Given the description of an element on the screen output the (x, y) to click on. 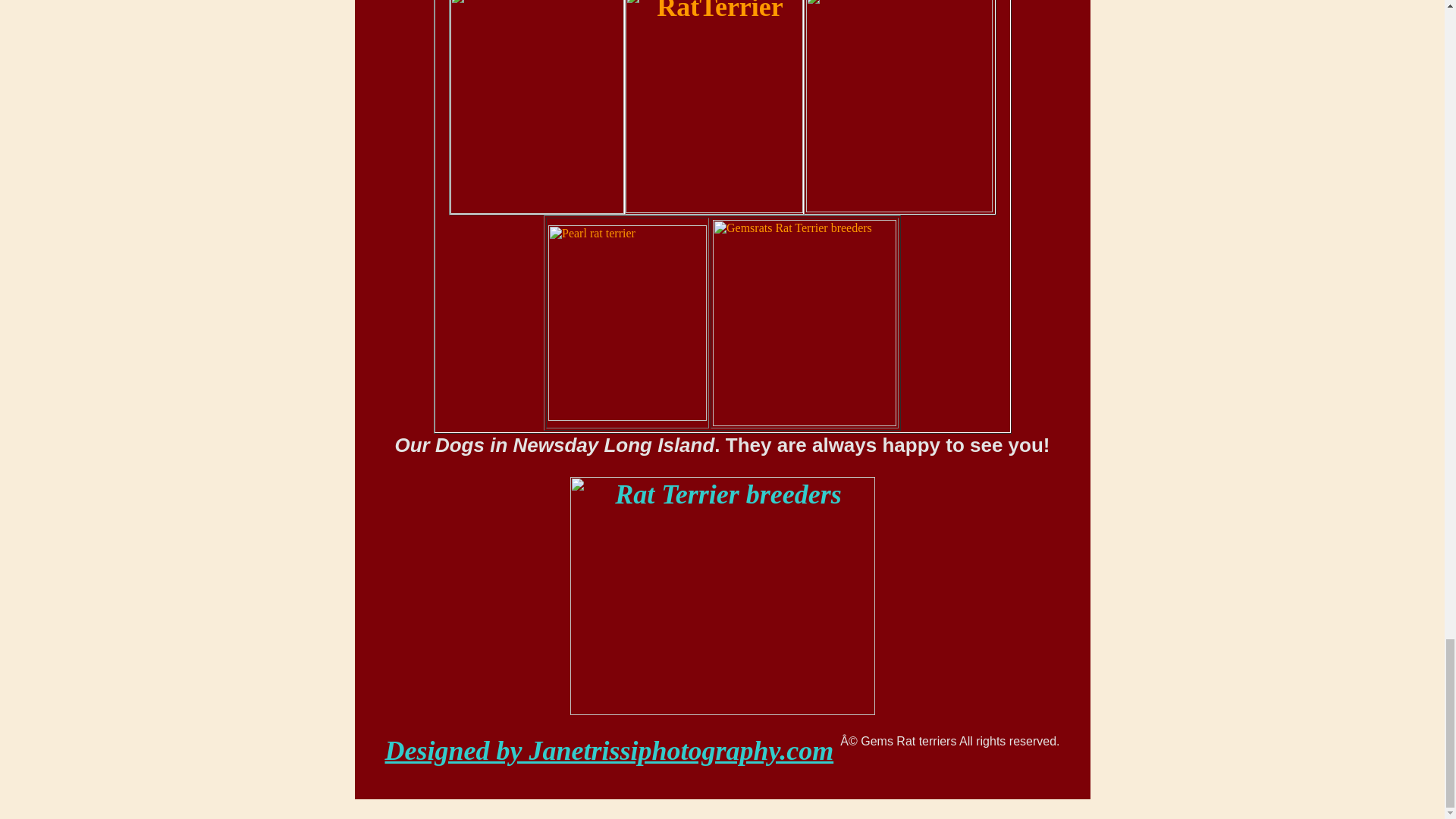
Designed by Janetrissiphotography.com (609, 750)
